Given the description of an element on the screen output the (x, y) to click on. 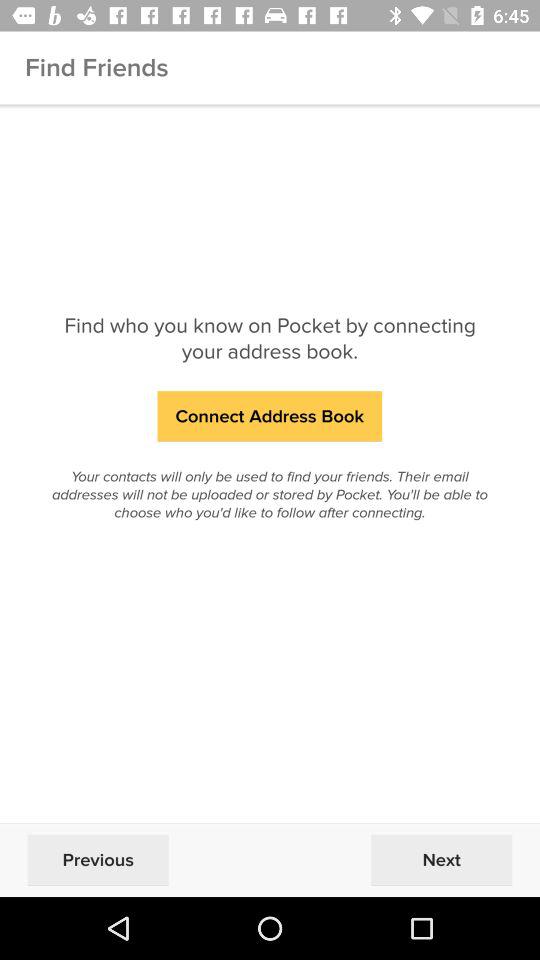
flip until next (441, 859)
